Given the description of an element on the screen output the (x, y) to click on. 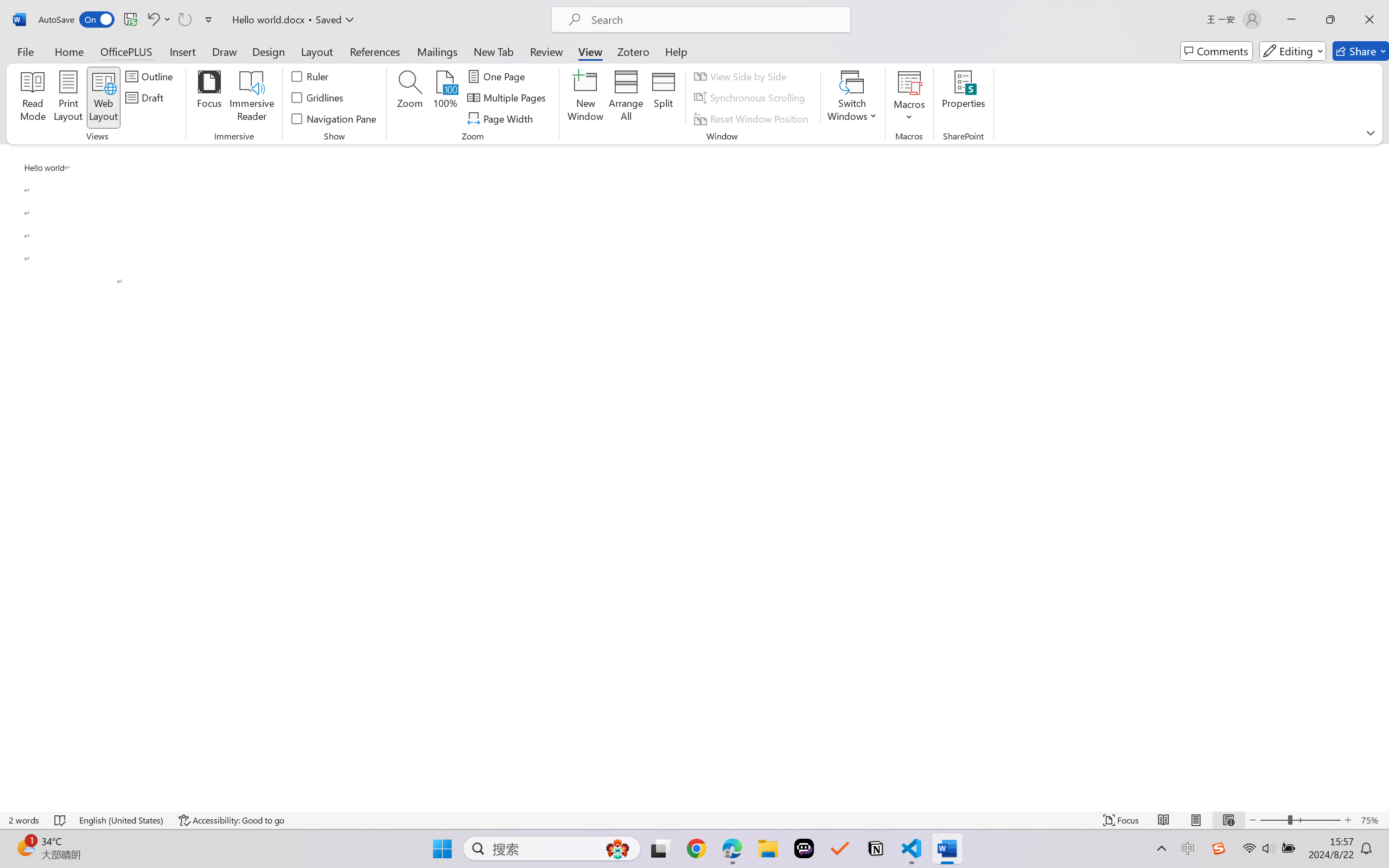
Can't Repeat (184, 19)
Mailings (437, 51)
Undo Paragraph Formatting (152, 19)
Switch Windows (852, 97)
Focus  (1121, 819)
Class: NetUIScrollBar (1382, 477)
Web Layout (1228, 819)
Language English (United States) (121, 819)
Quick Access Toolbar (127, 19)
Synchronous Scrolling (751, 97)
Editing (1292, 50)
Split (663, 97)
New Window (585, 97)
